Given the description of an element on the screen output the (x, y) to click on. 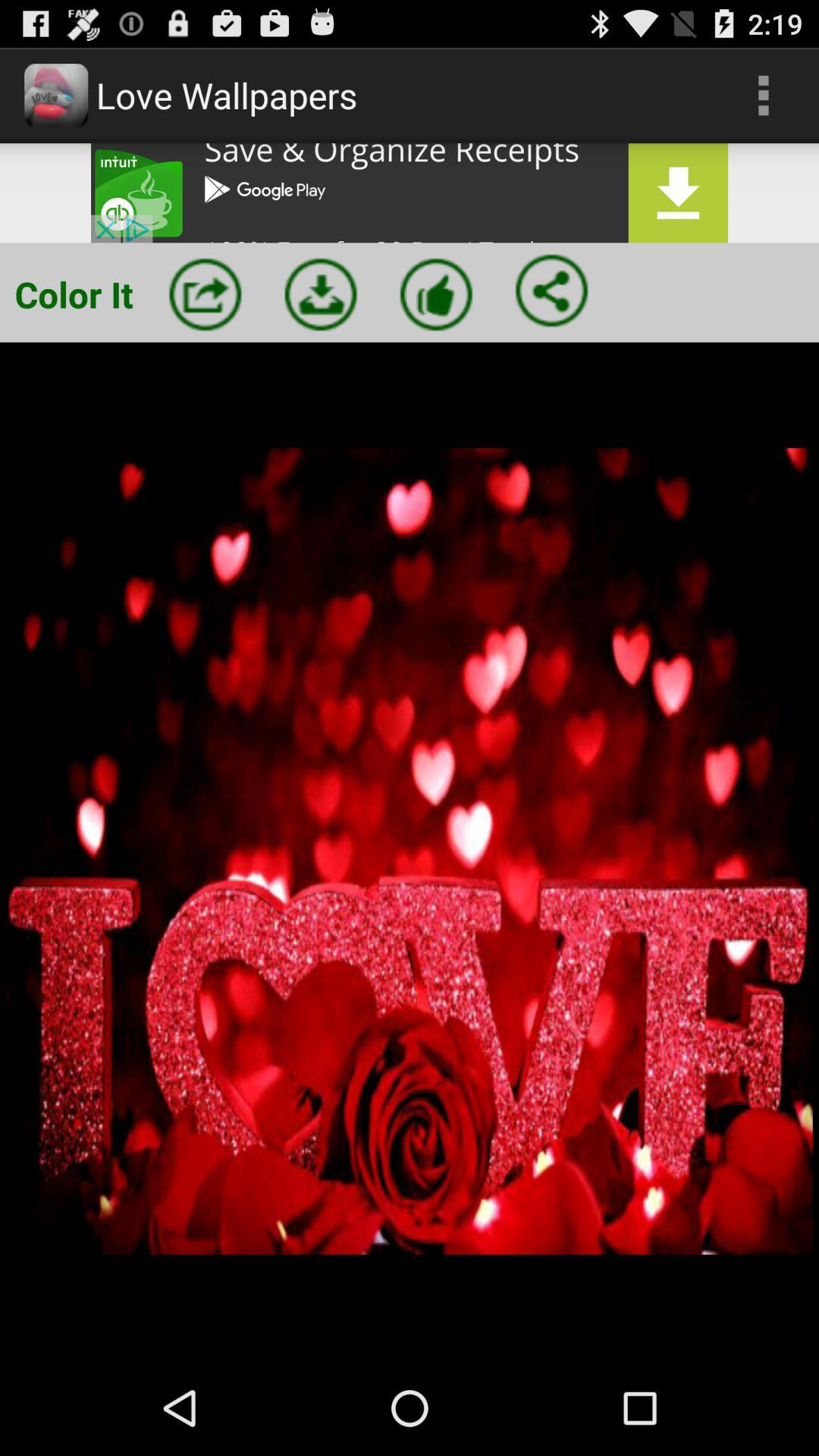
download photo (320, 294)
